Given the description of an element on the screen output the (x, y) to click on. 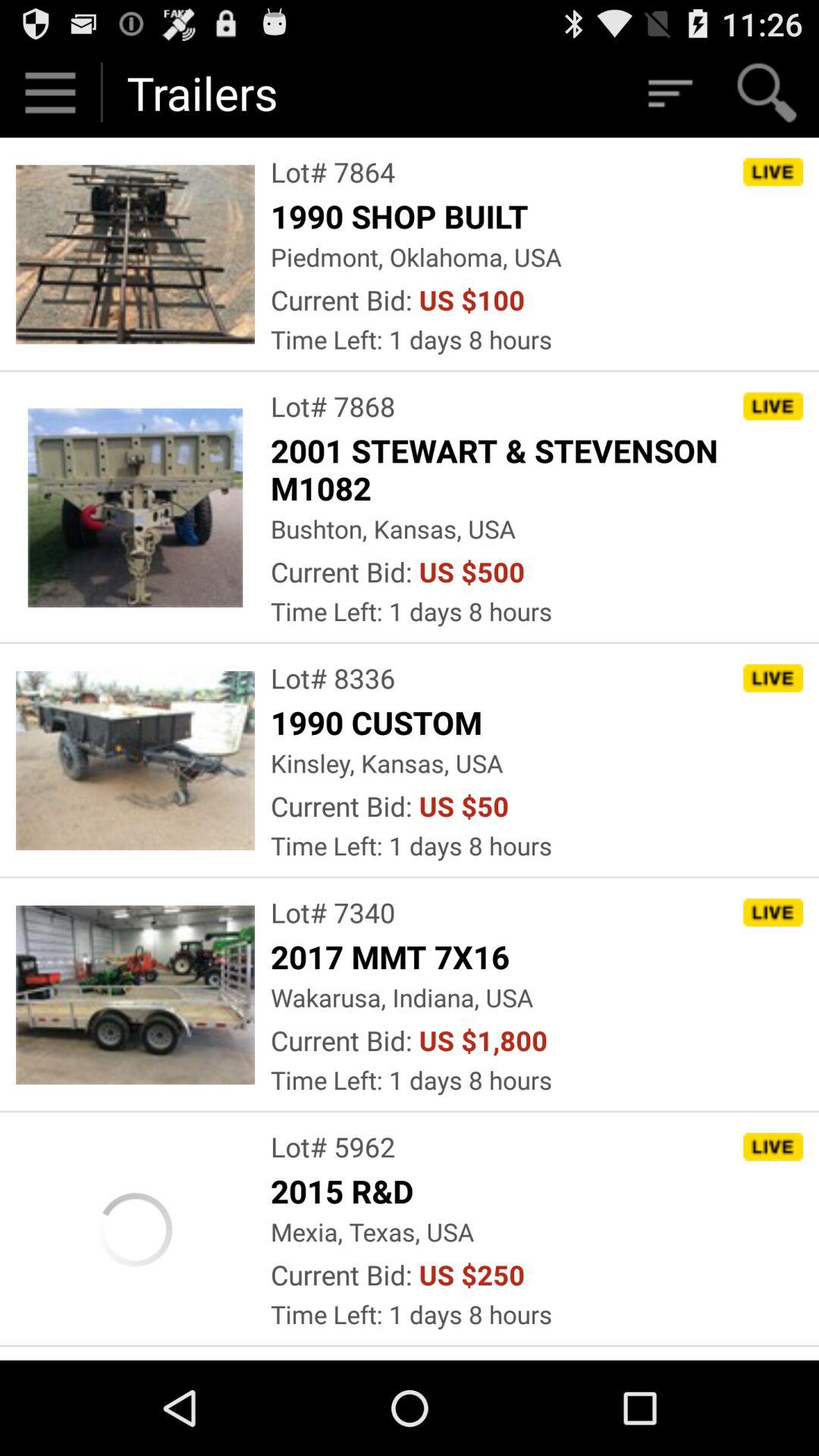
press app above the bushton, kansas, usa (536, 468)
